Given the description of an element on the screen output the (x, y) to click on. 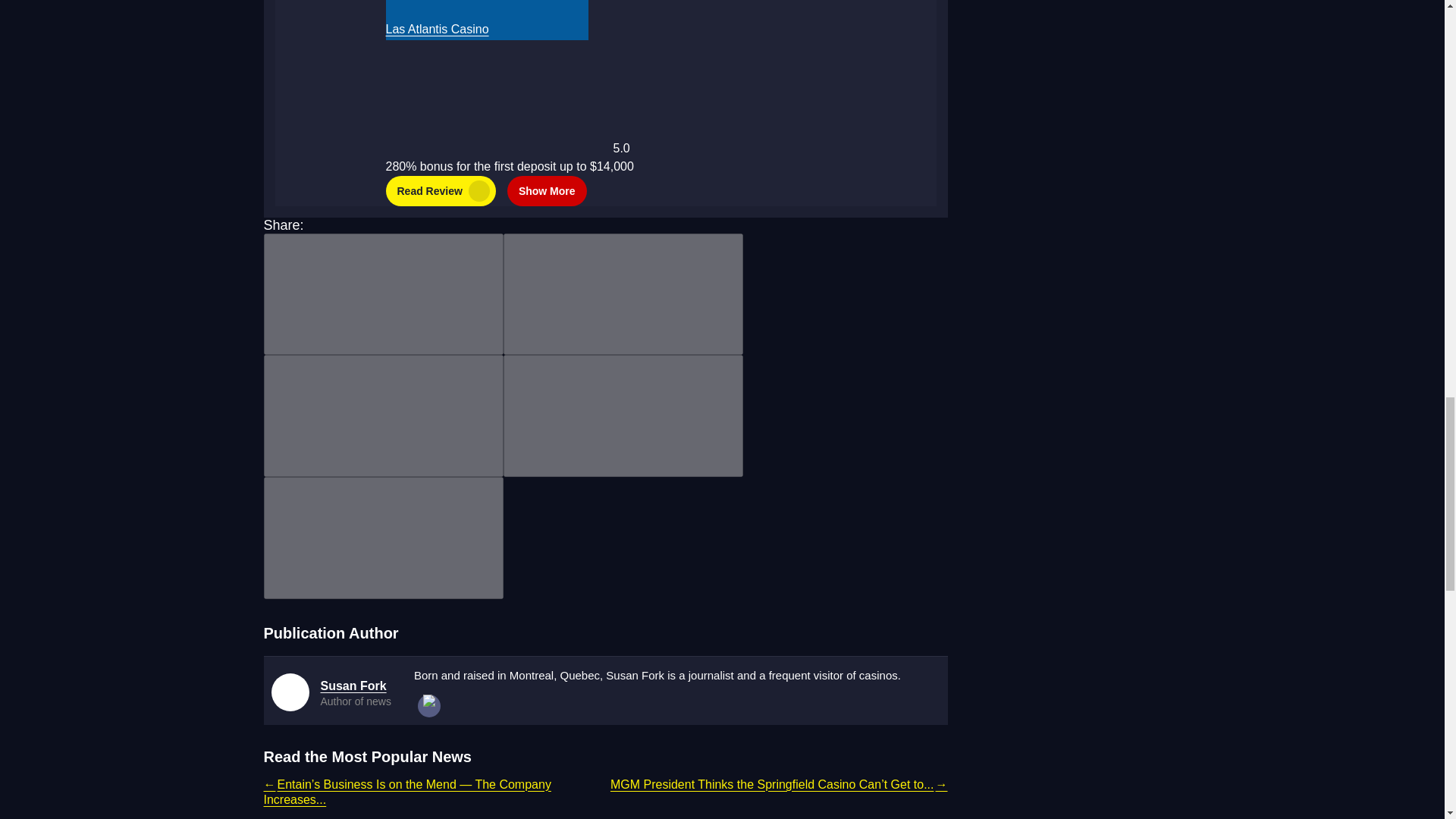
Las Atlantis Casino (485, 7)
